Given the description of an element on the screen output the (x, y) to click on. 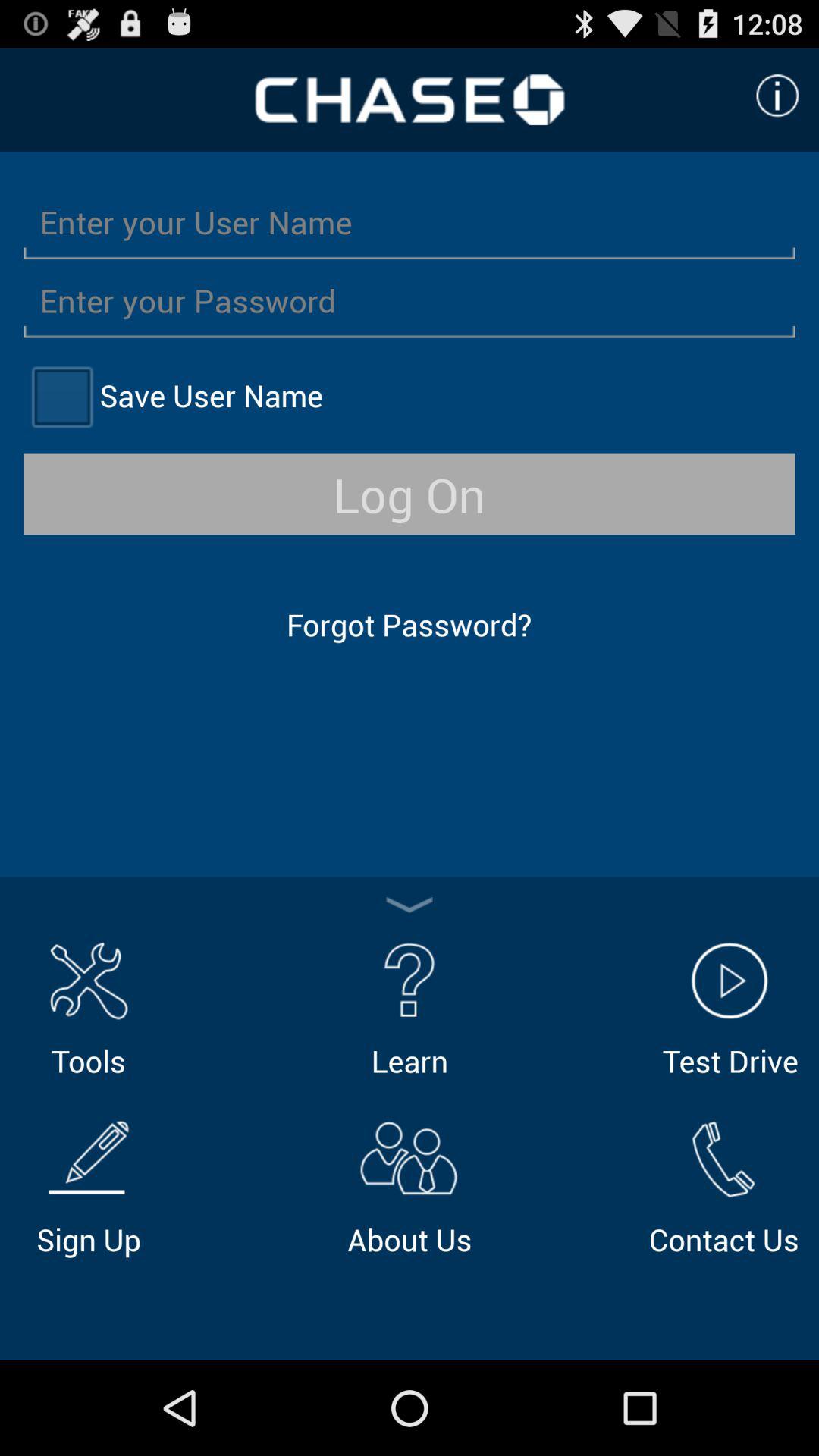
tap the icon next to the learn icon (730, 1006)
